Given the description of an element on the screen output the (x, y) to click on. 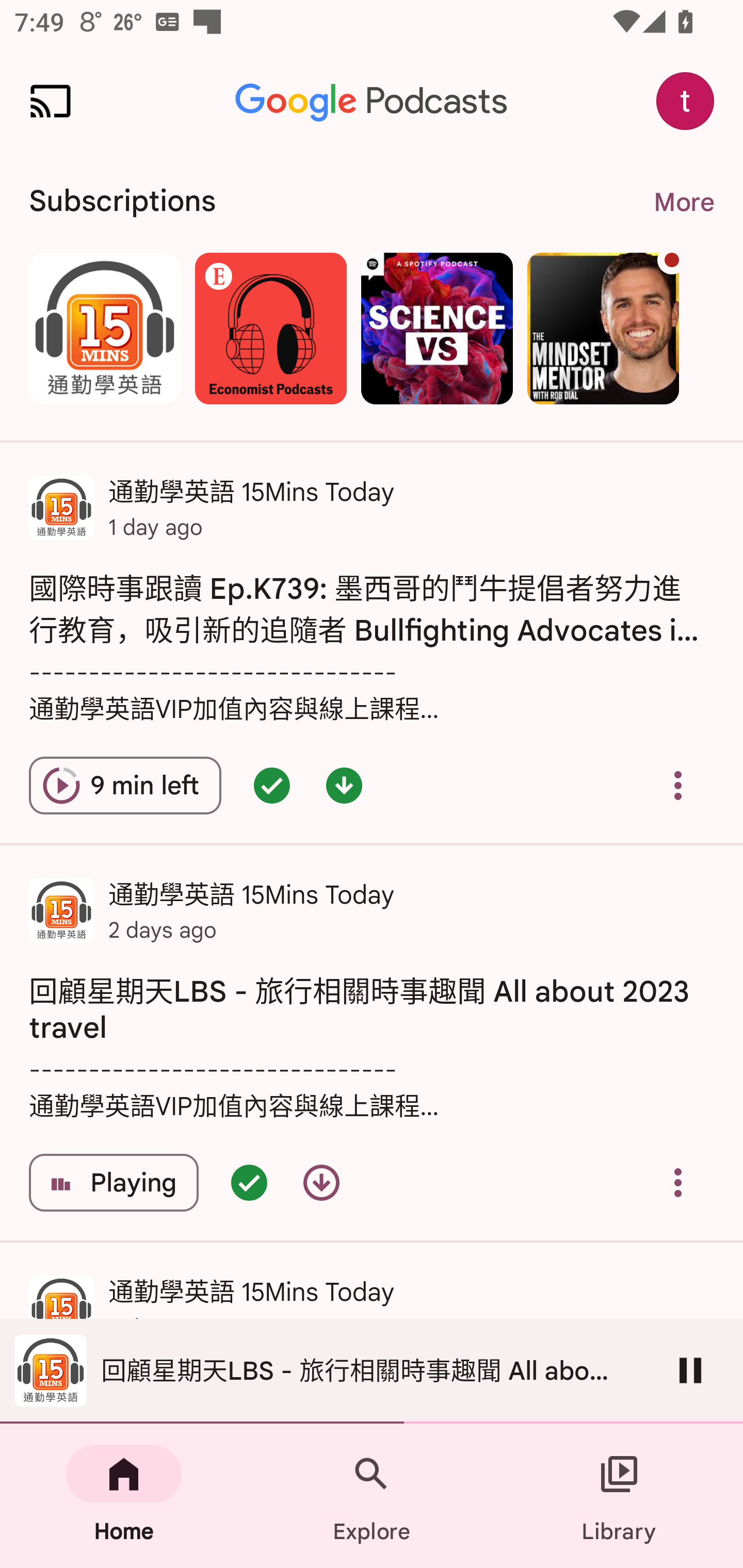
Cast. Disconnected (50, 101)
More More. Navigate to subscriptions page. (683, 202)
通勤學英語 15Mins Today (104, 328)
Economist Podcasts (270, 328)
Science Vs (436, 328)
The Mindset Mentor (603, 328)
Episode queued - double tap for options (271, 785)
Episode downloaded - double tap for options (344, 785)
Overflow menu (677, 785)
Episode queued - double tap for options (249, 1182)
Download episode (321, 1182)
Overflow menu (677, 1182)
Pause (690, 1370)
Explore (371, 1495)
Library (619, 1495)
